Given the description of an element on the screen output the (x, y) to click on. 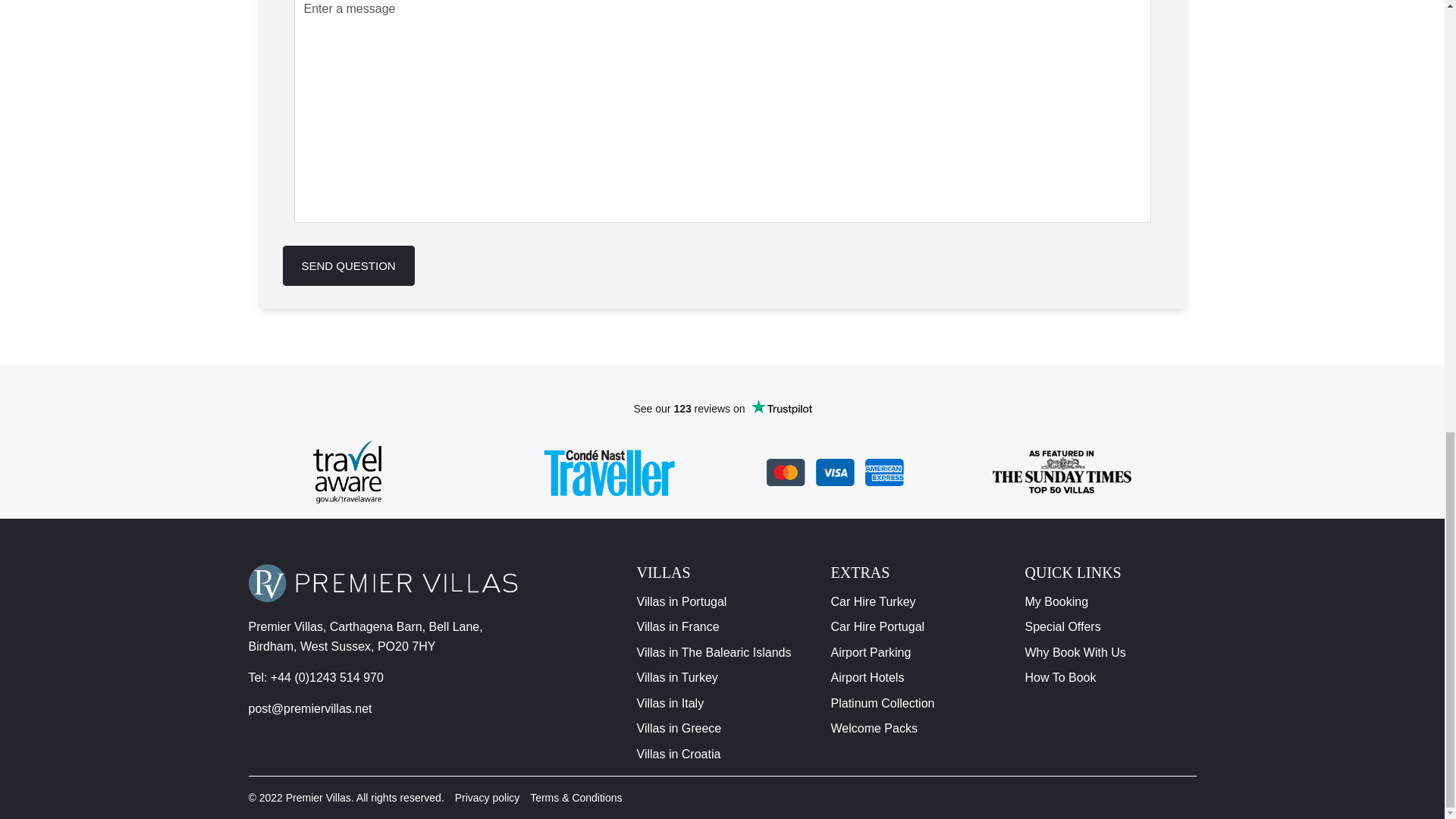
Customer reviews powered by Trustpilot (721, 408)
